Given the description of an element on the screen output the (x, y) to click on. 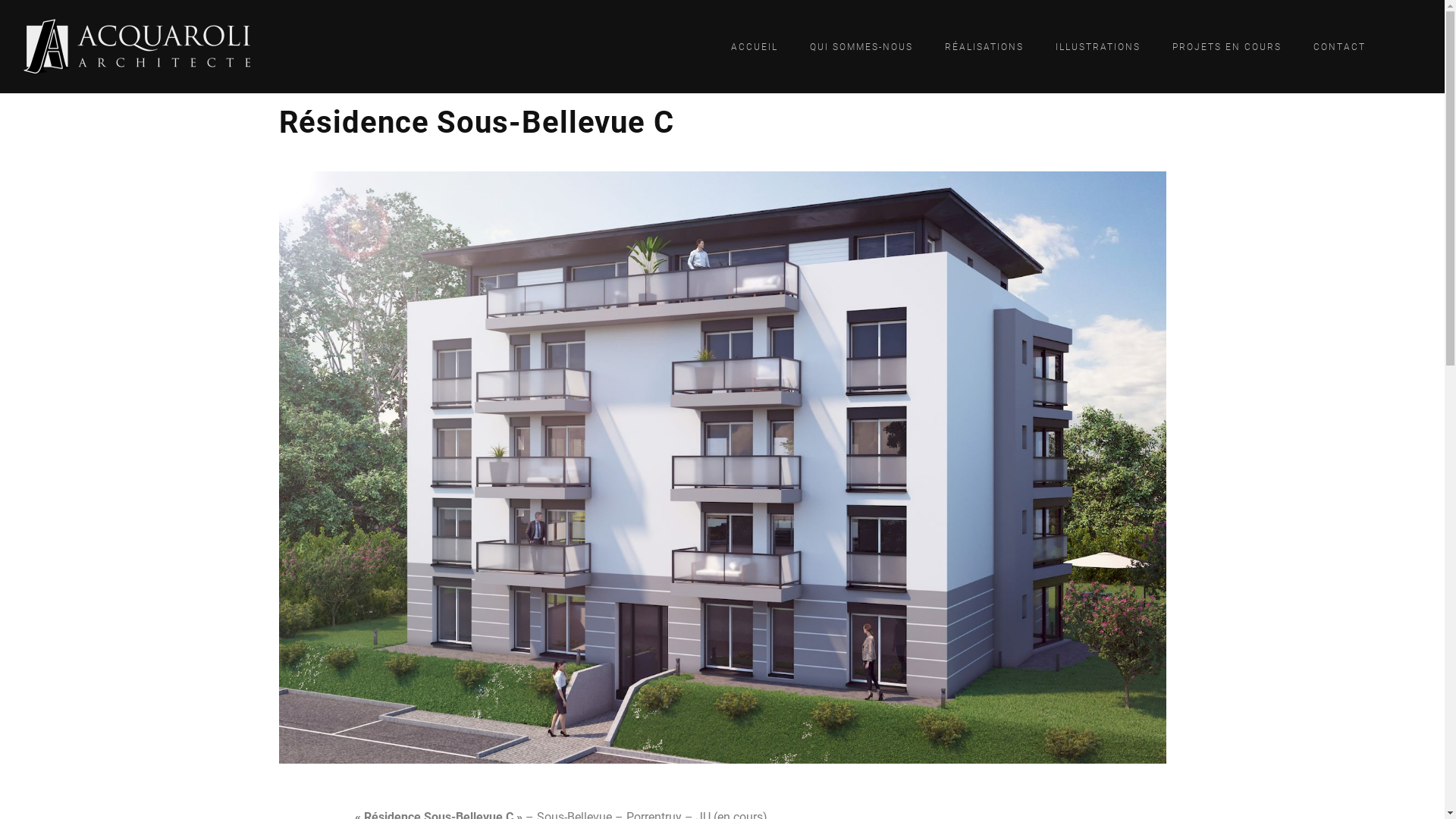
ILLUSTRATIONS Element type: text (1097, 46)
PROJETS EN COURS Element type: text (1226, 46)
QUI SOMMES-NOUS Element type: text (861, 46)
ACCUEIL Element type: text (754, 46)
CONTACT Element type: text (1339, 46)
